Given the description of an element on the screen output the (x, y) to click on. 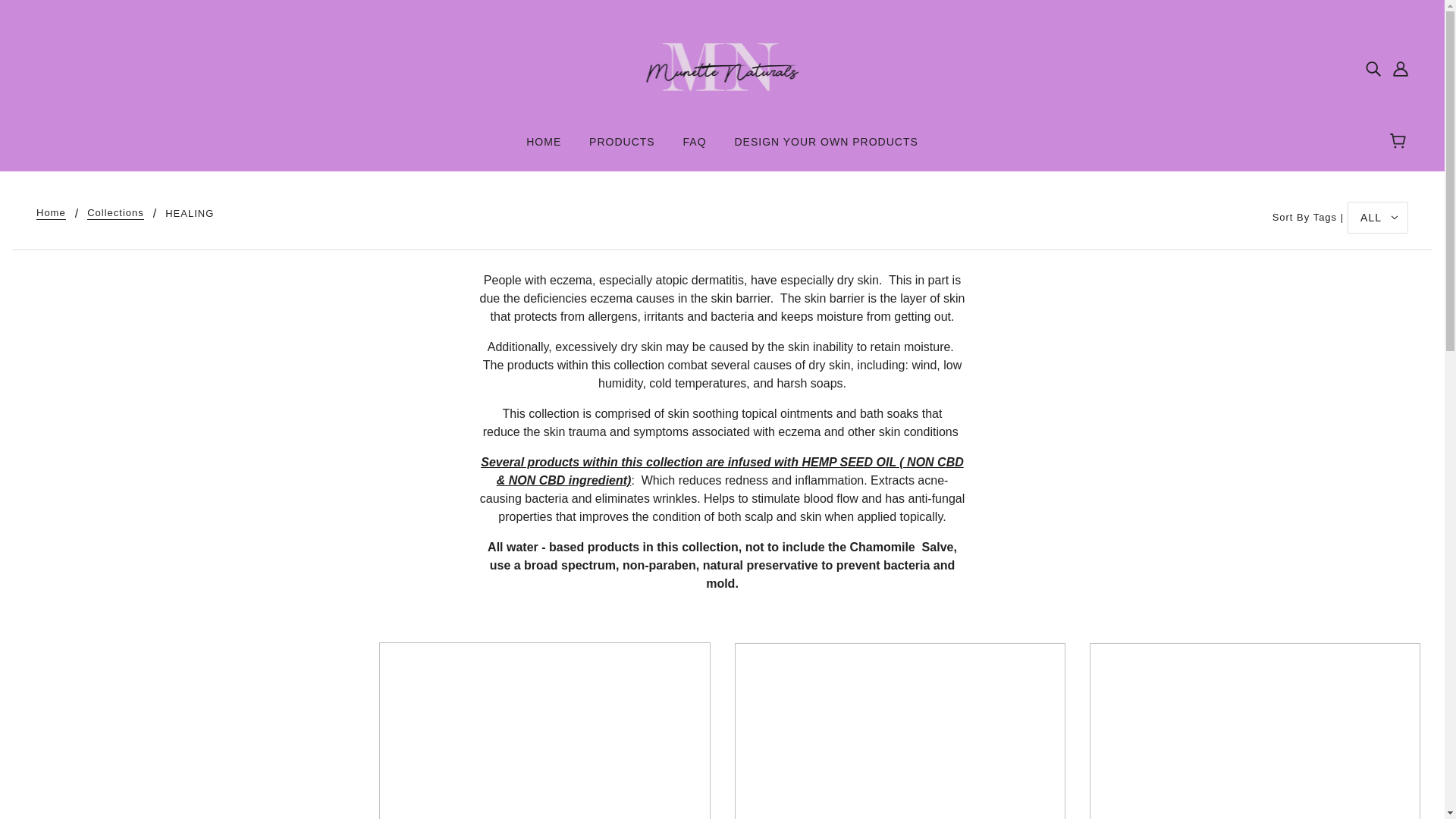
Home (50, 214)
FAQ (695, 147)
DESIGN YOUR OWN PRODUCTS (826, 147)
HOME (543, 147)
PRODUCTS (621, 147)
Munette Naturals  (721, 66)
Collections (115, 214)
